Given the description of an element on the screen output the (x, y) to click on. 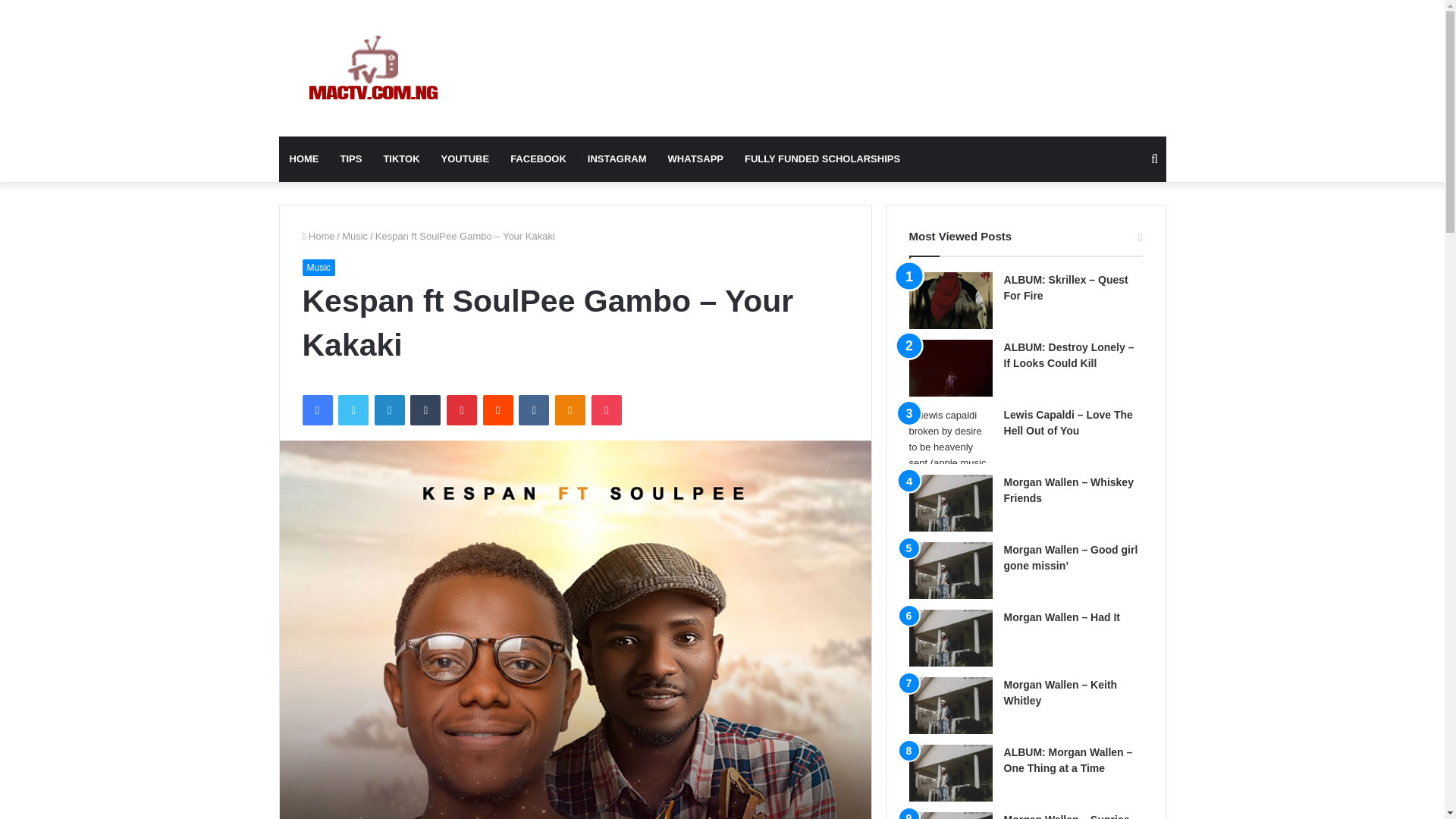
Facebook (316, 409)
INSTAGRAM (617, 158)
TIKTOK (400, 158)
Home (317, 235)
Reddit (498, 409)
LinkedIn (389, 409)
MacTV NG (373, 68)
Facebook (316, 409)
Pocket (606, 409)
WHATSAPP (695, 158)
